Given the description of an element on the screen output the (x, y) to click on. 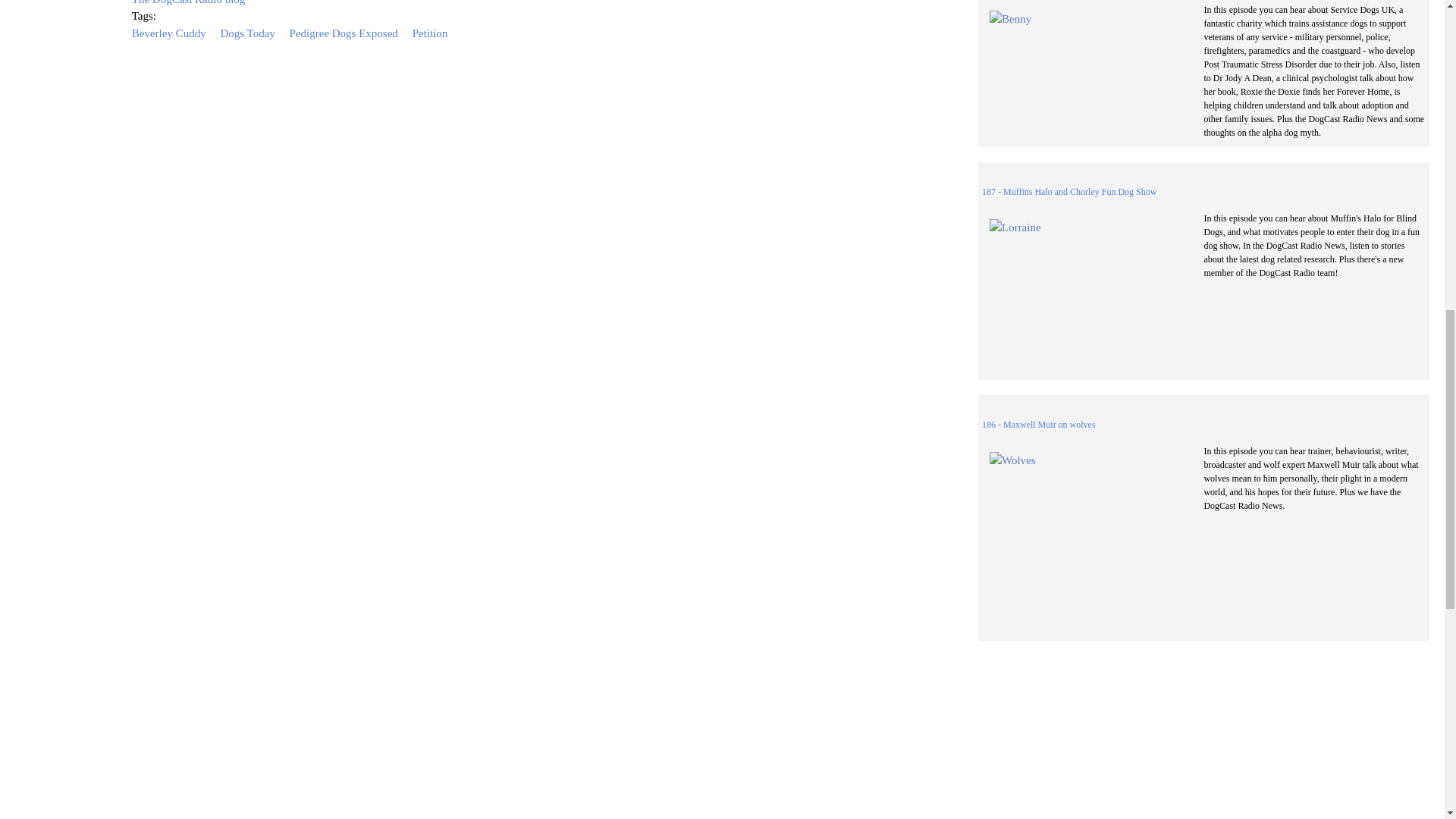
The DogCast Radio blog (189, 2)
The DogCast Radio blog latest entries (189, 2)
Petition (430, 33)
Beverley Cuddy (169, 33)
Pedigree Dogs Exposed (343, 33)
187 - Muffins Halo and Chorley Fun Dog Show (1068, 191)
Dogs Today (247, 33)
186 - Maxwell Muir on wolves (1038, 424)
